Given the description of an element on the screen output the (x, y) to click on. 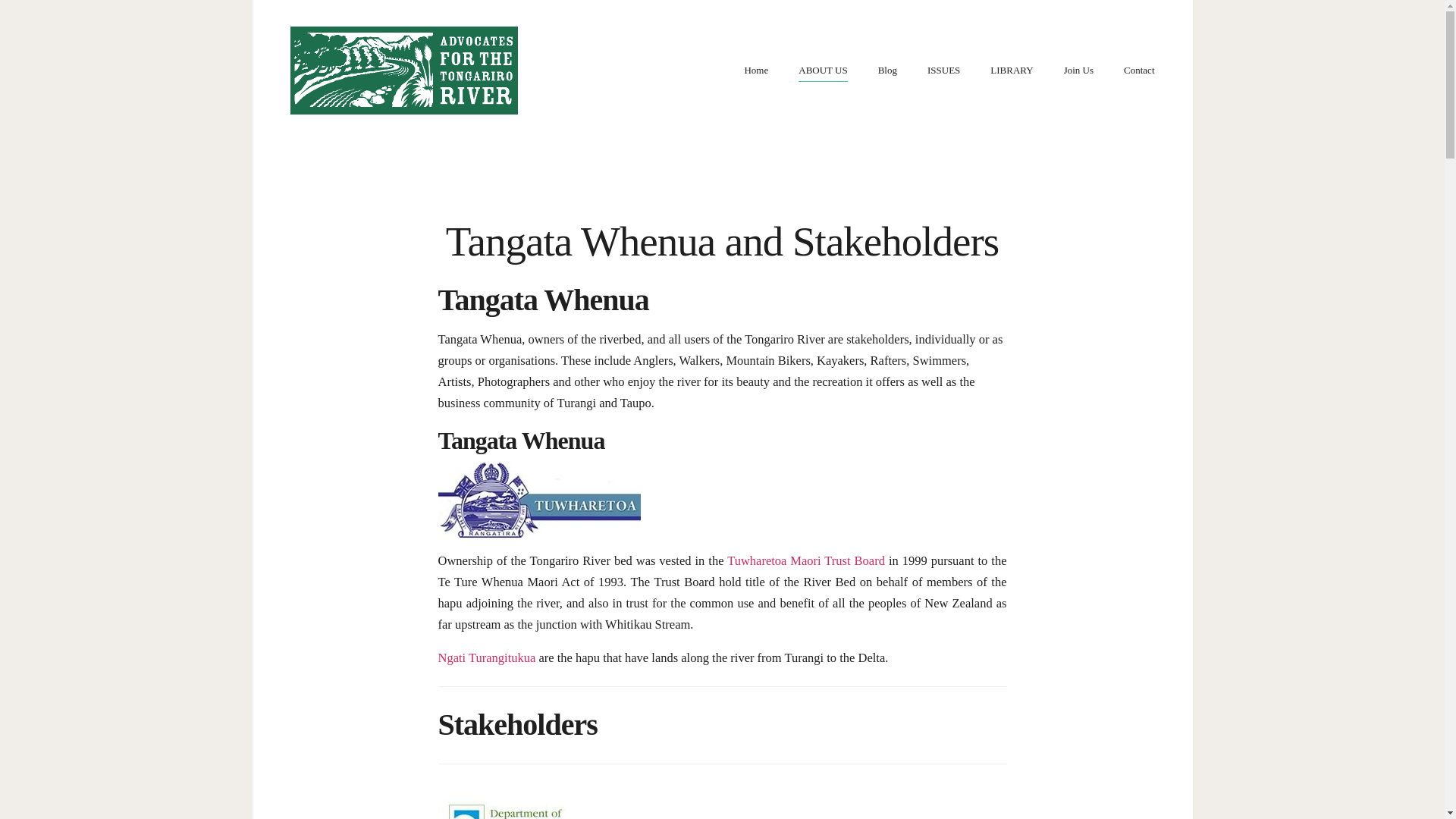
Join Us (1078, 69)
Tuwharetoa Maori Trust Board (805, 560)
Home (756, 69)
Contact (1139, 69)
ISSUES (943, 69)
ABOUT US (822, 69)
LIBRARY (1011, 69)
